Given the description of an element on the screen output the (x, y) to click on. 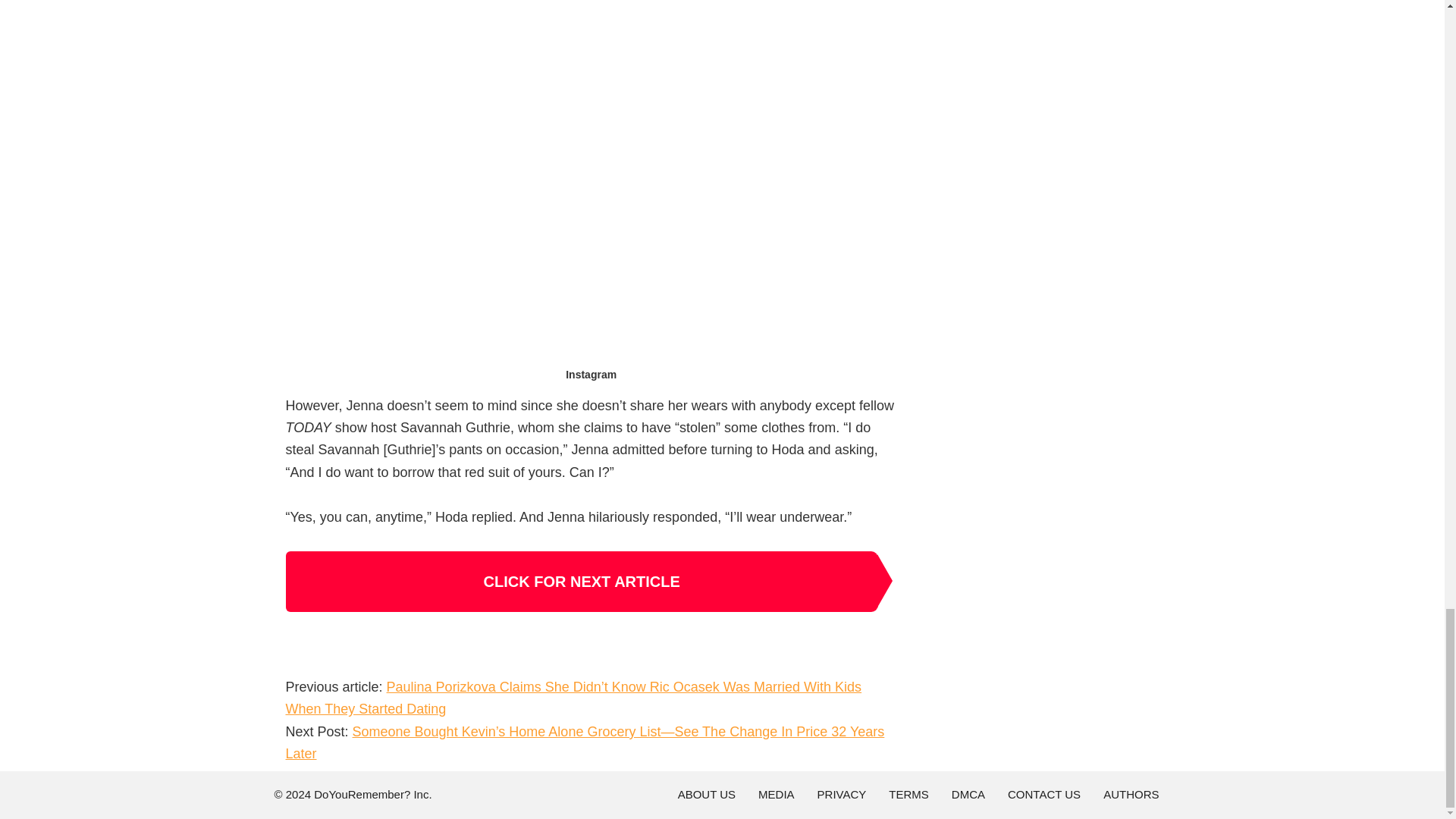
MEDIA (775, 794)
PRIVACY (841, 794)
ABOUT US (706, 794)
CLICK FOR NEXT ARTICLE (581, 581)
